Given the description of an element on the screen output the (x, y) to click on. 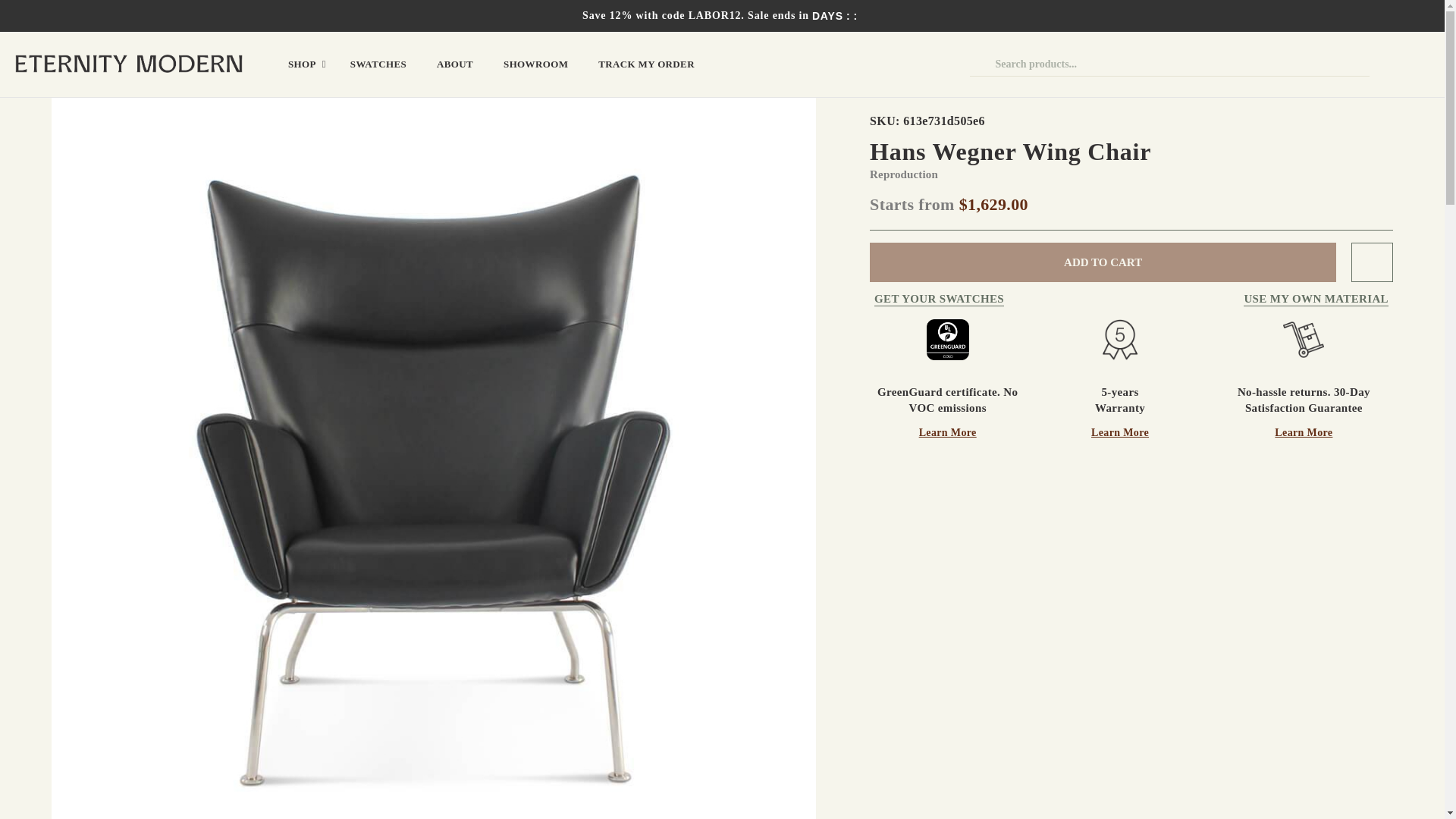
SHOP (303, 64)
swatch (999, 299)
Material (1316, 299)
Add to Cart (1102, 261)
